Given the description of an element on the screen output the (x, y) to click on. 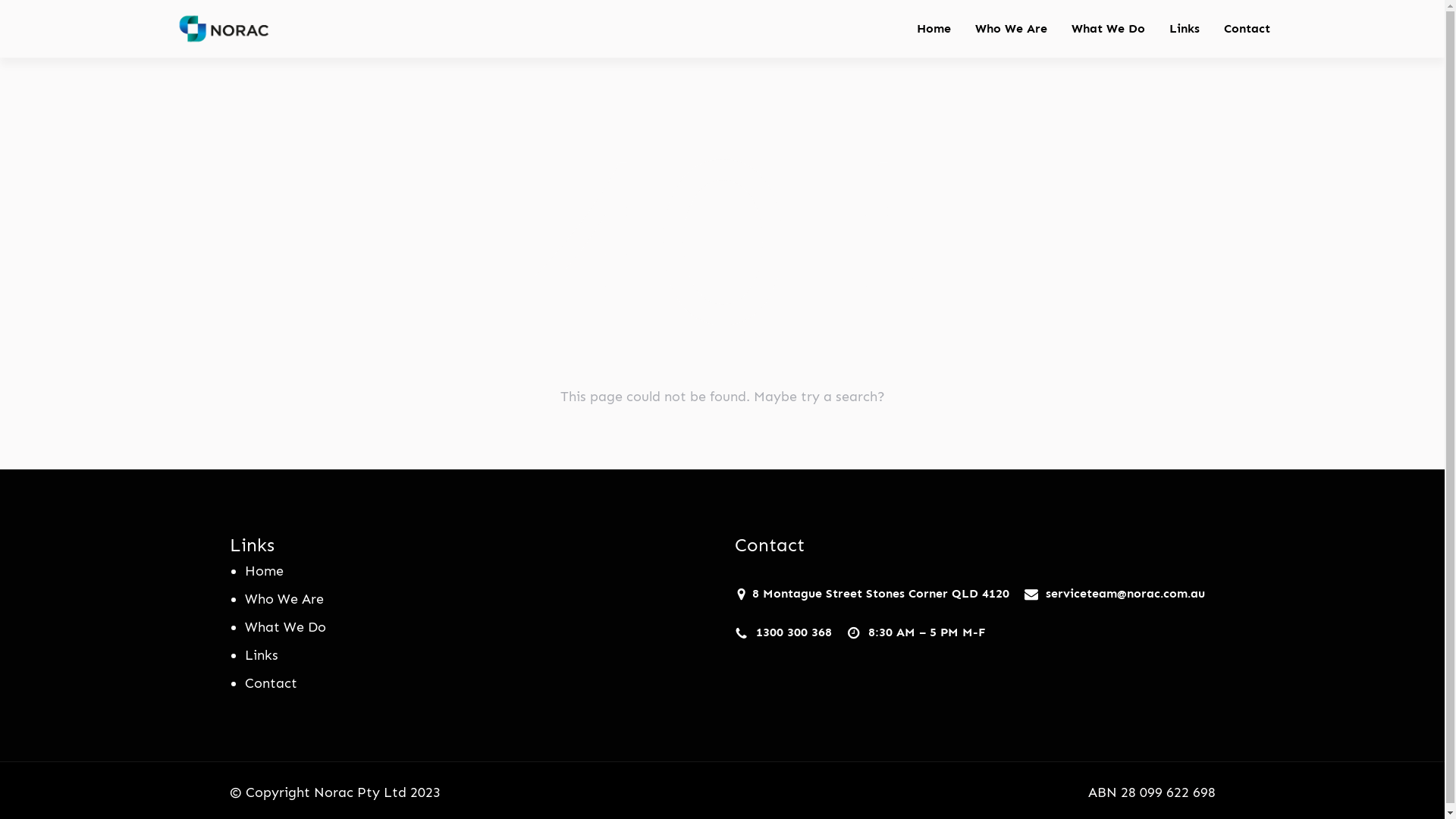
Home Element type: text (263, 570)
What We Do Element type: text (1108, 28)
What We Do Element type: text (284, 626)
Contact Element type: text (270, 682)
Links Element type: text (1184, 28)
Who We Are Element type: text (283, 598)
serviceteam@norac.com.au Element type: text (1124, 593)
Home Element type: text (933, 28)
Links Element type: text (260, 654)
Who We Are Element type: text (1011, 28)
Contact Element type: text (1246, 28)
